Given the description of an element on the screen output the (x, y) to click on. 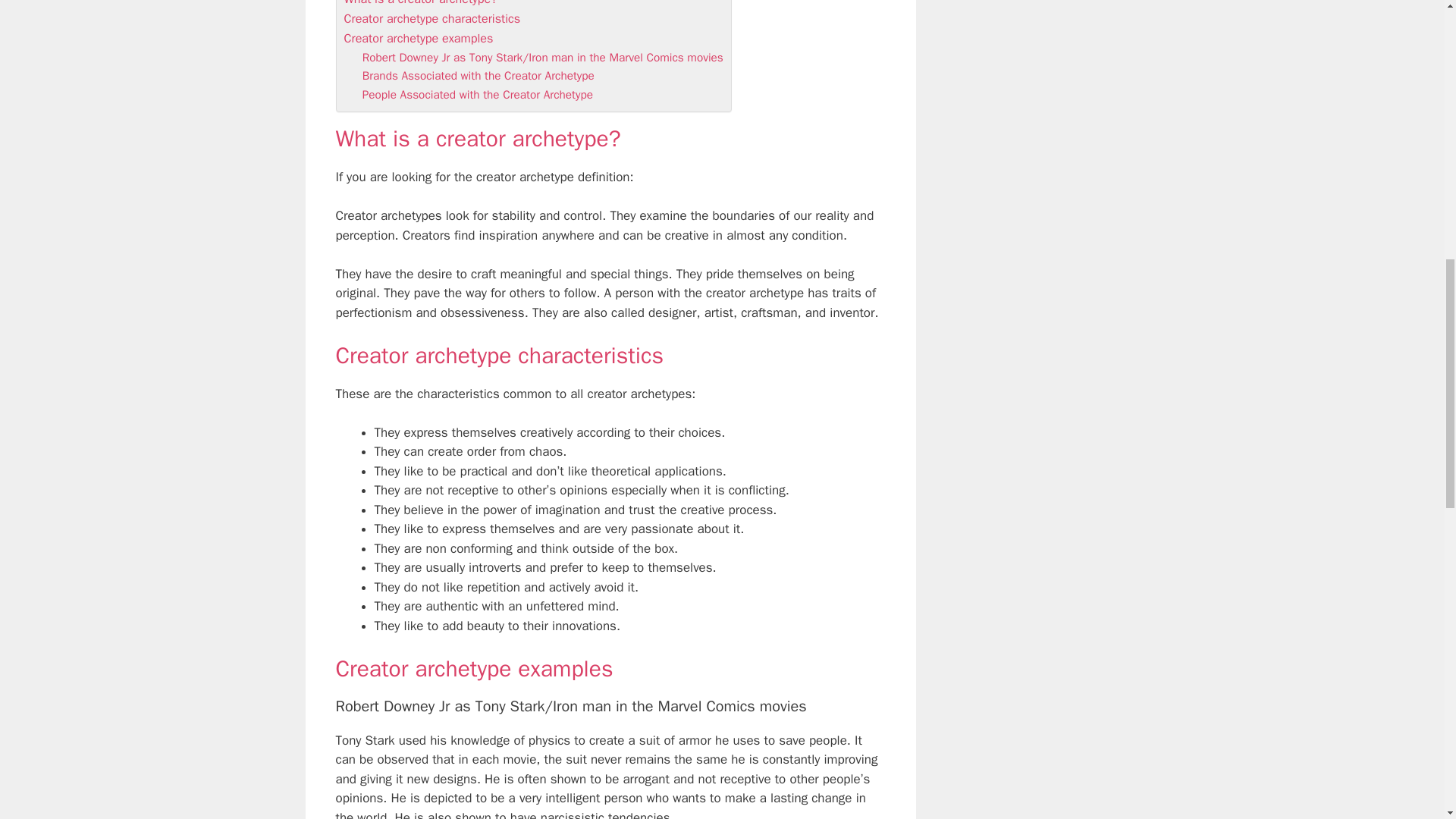
People Associated with the Creator Archetype (477, 94)
Creator archetype characteristics (432, 18)
People Associated with the Creator Archetype (477, 94)
Creator archetype characteristics (432, 18)
Creator archetype examples (418, 37)
Brands Associated with the Creator Archetype (478, 75)
What is a creator archetype? (420, 3)
Creator archetype examples (418, 37)
Brands Associated with the Creator Archetype (478, 75)
What is a creator archetype? (420, 3)
